Given the description of an element on the screen output the (x, y) to click on. 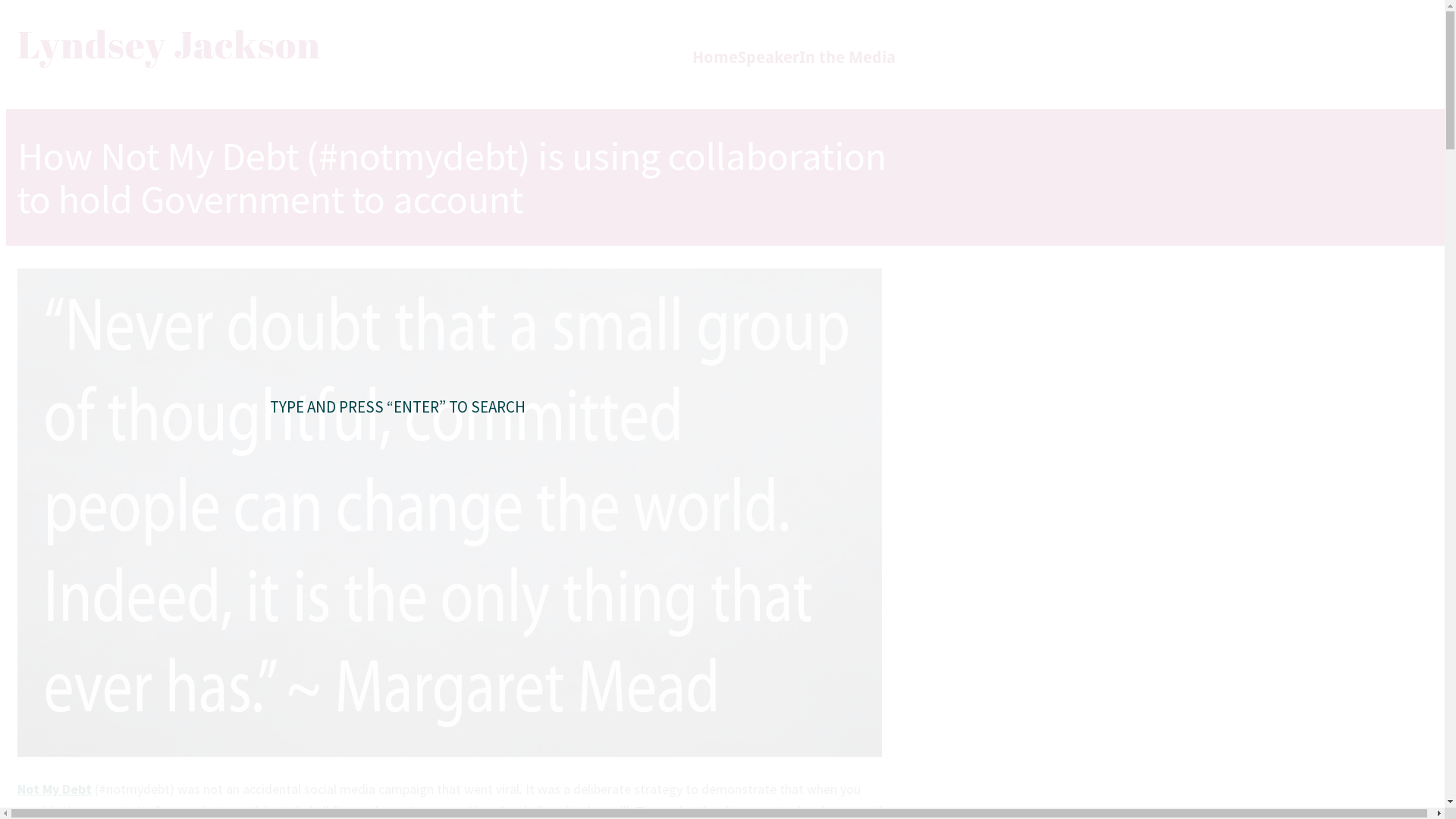
Lyndsey Jackson Element type: text (174, 43)
Search Element type: text (722, 464)
<span class="icon glyphicon glyphicon-search"></span> Element type: text (899, 48)
Not My Debt Element type: text (54, 788)
In the Media Element type: text (847, 57)
Home Element type: text (714, 57)
Enter the terms you wish to search for. Element type: hover (849, 388)
Speaker Element type: text (768, 57)
Skip to main content Element type: text (6, 6)
